Given the description of an element on the screen output the (x, y) to click on. 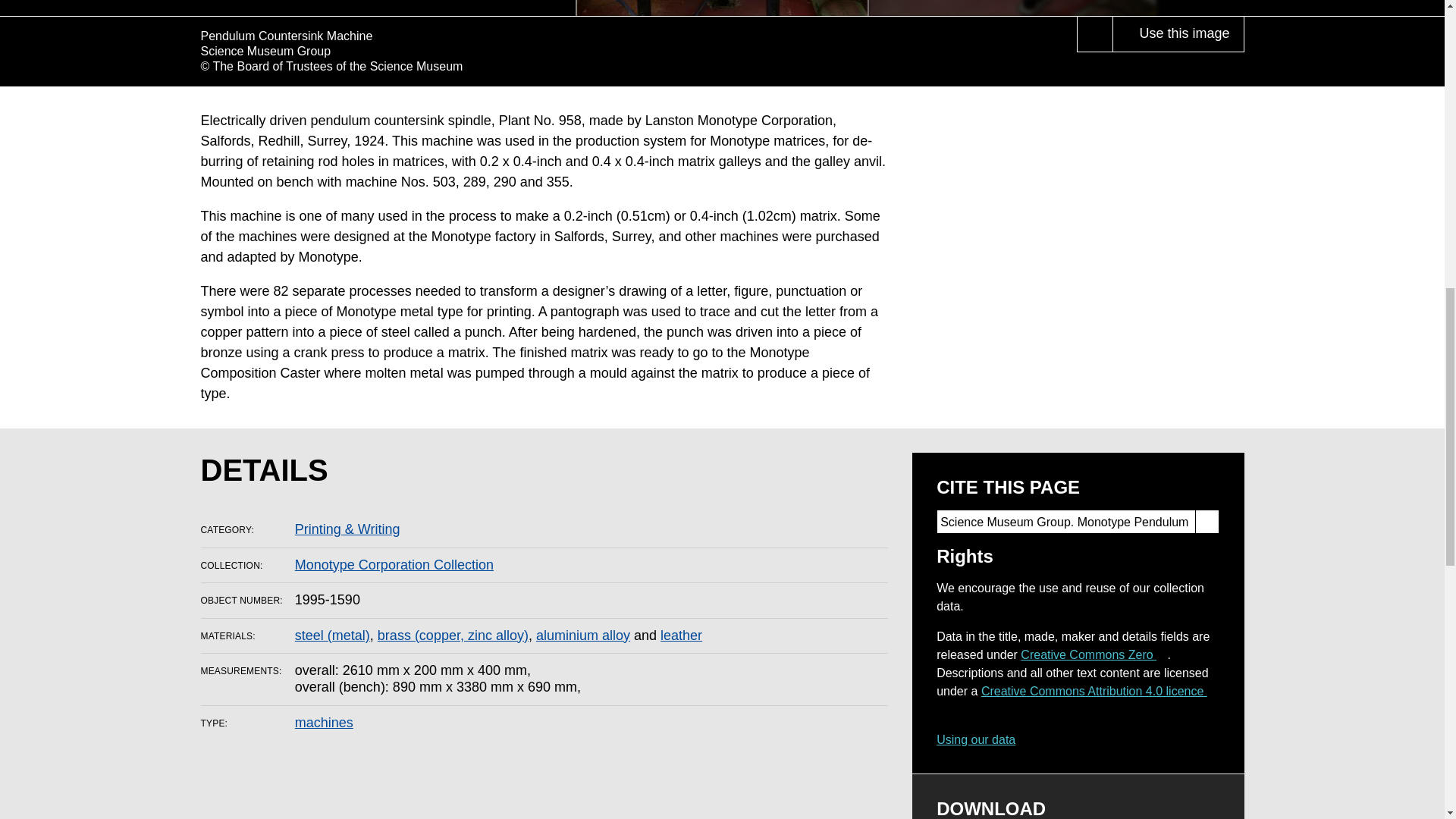
Toggle full page (1095, 33)
